Given the description of an element on the screen output the (x, y) to click on. 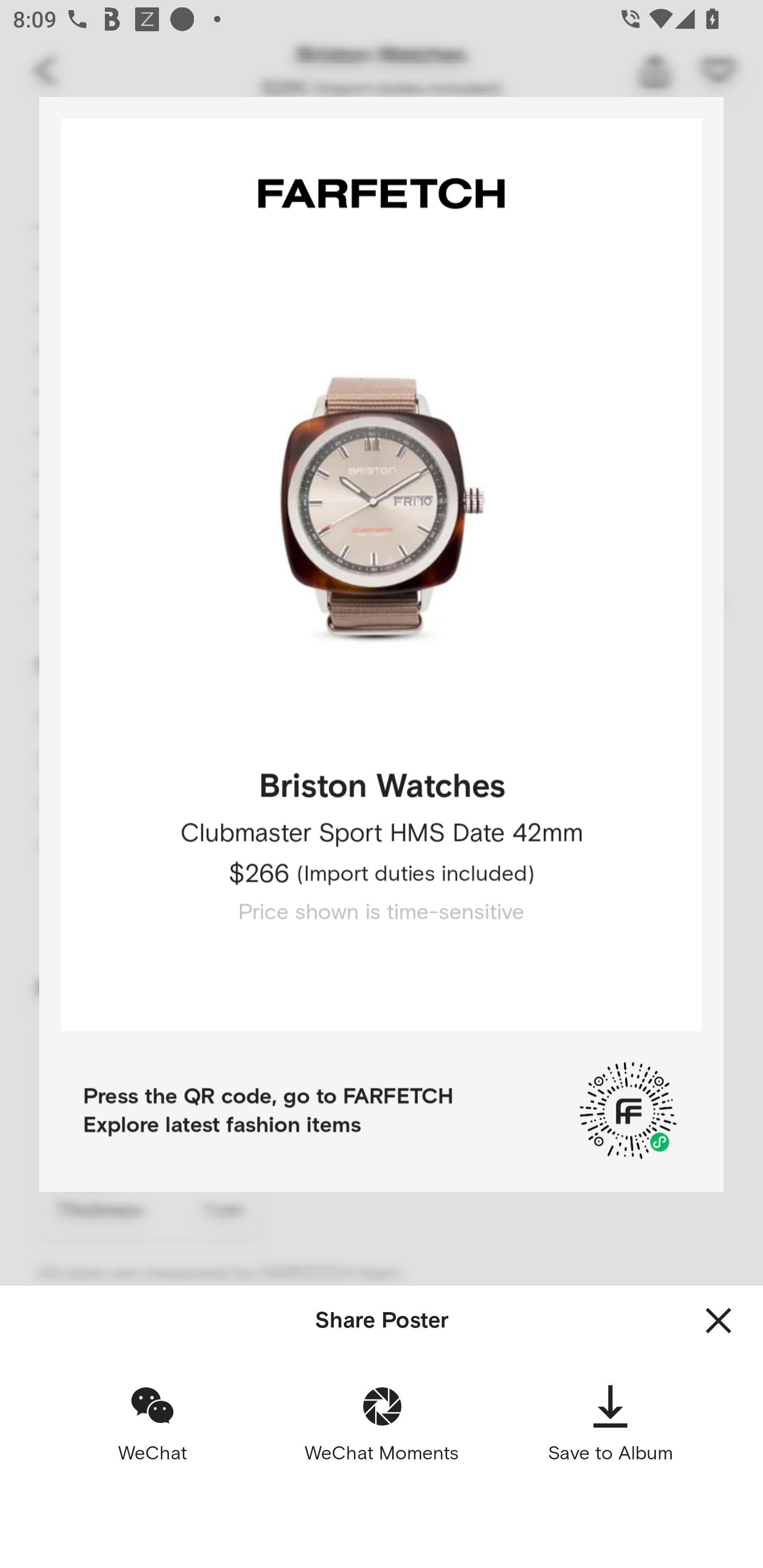
WeChat (152, 1423)
WeChat Moments (381, 1423)
Save to Album (609, 1423)
